Given the description of an element on the screen output the (x, y) to click on. 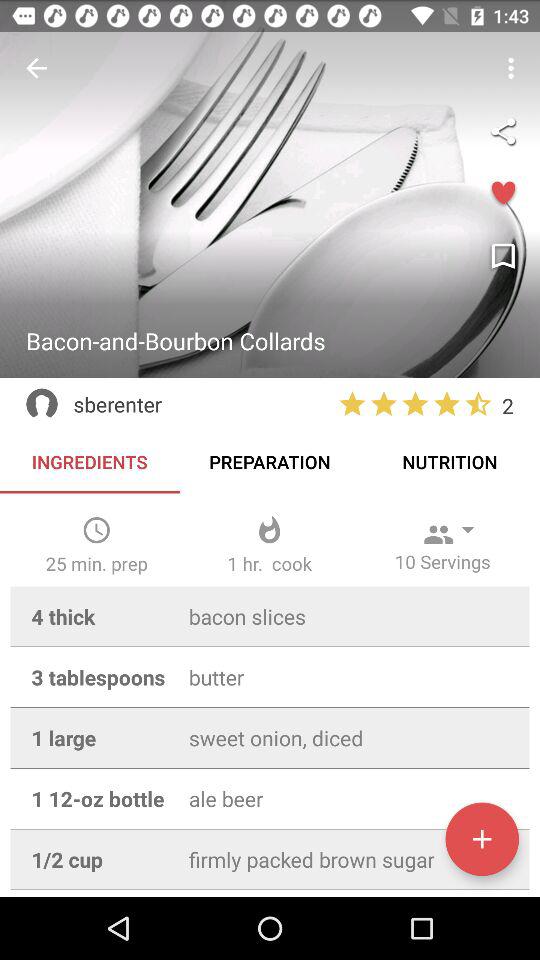
share the article (503, 131)
